Given the description of an element on the screen output the (x, y) to click on. 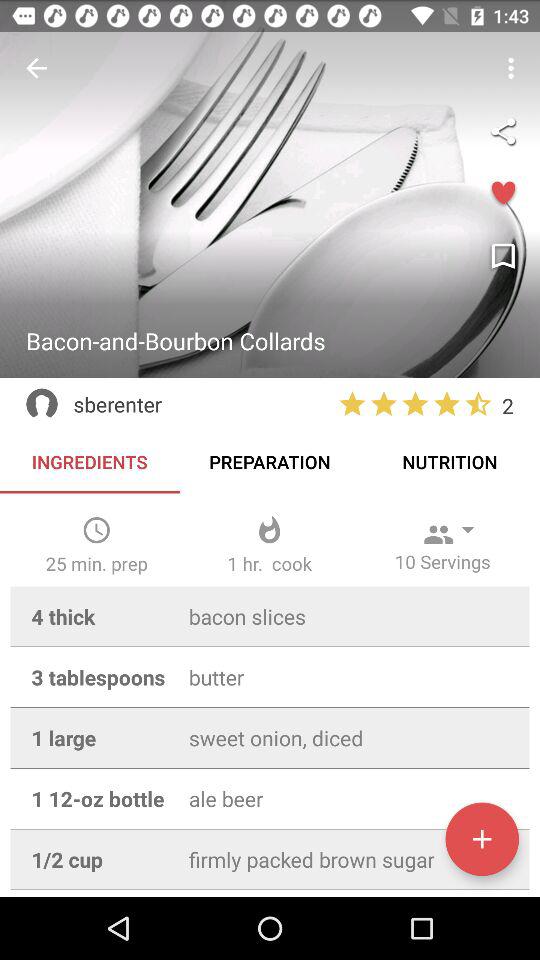
share the article (503, 131)
